Given the description of an element on the screen output the (x, y) to click on. 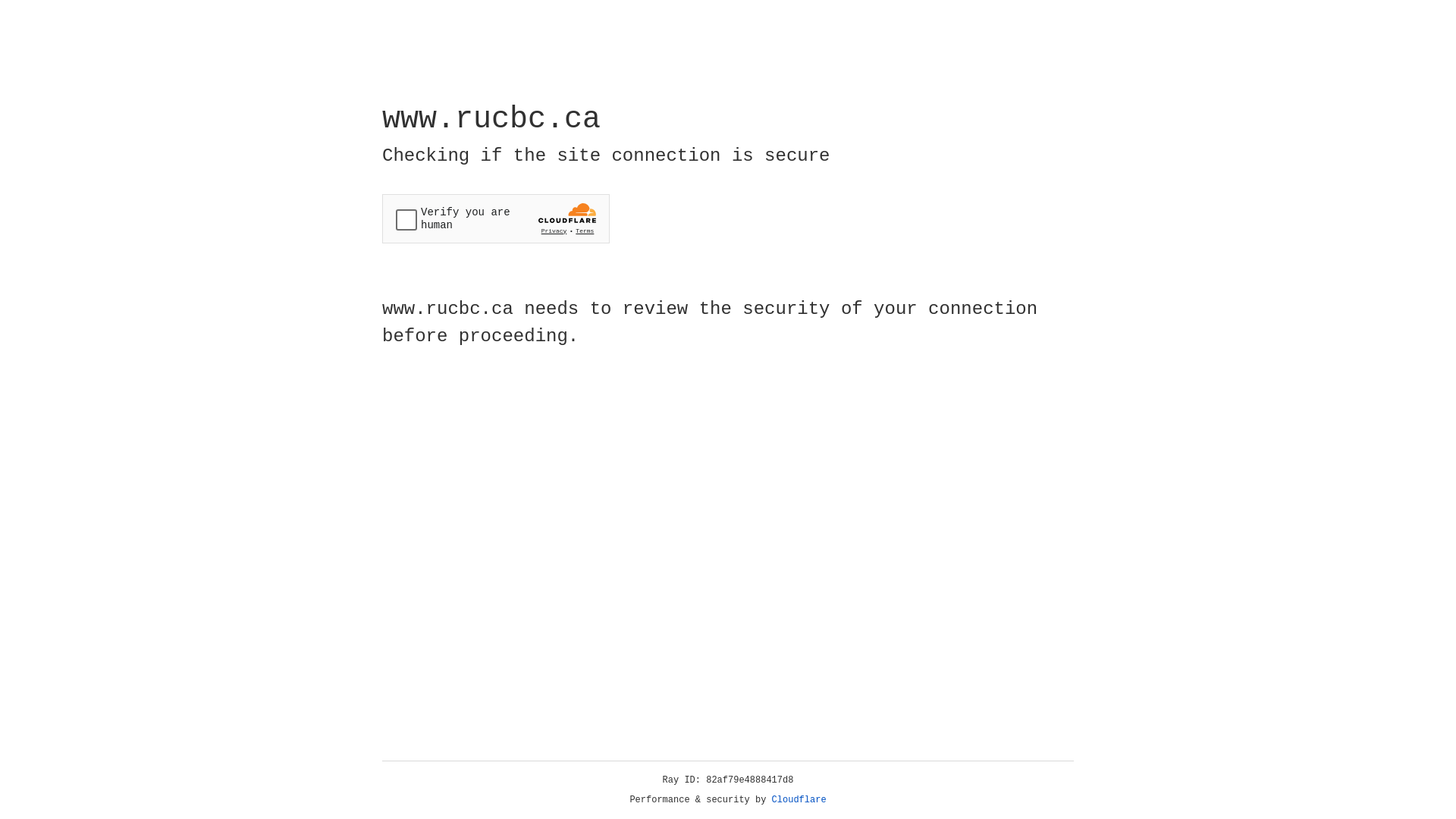
Widget containing a Cloudflare security challenge Element type: hover (495, 218)
Cloudflare Element type: text (798, 799)
